Given the description of an element on the screen output the (x, y) to click on. 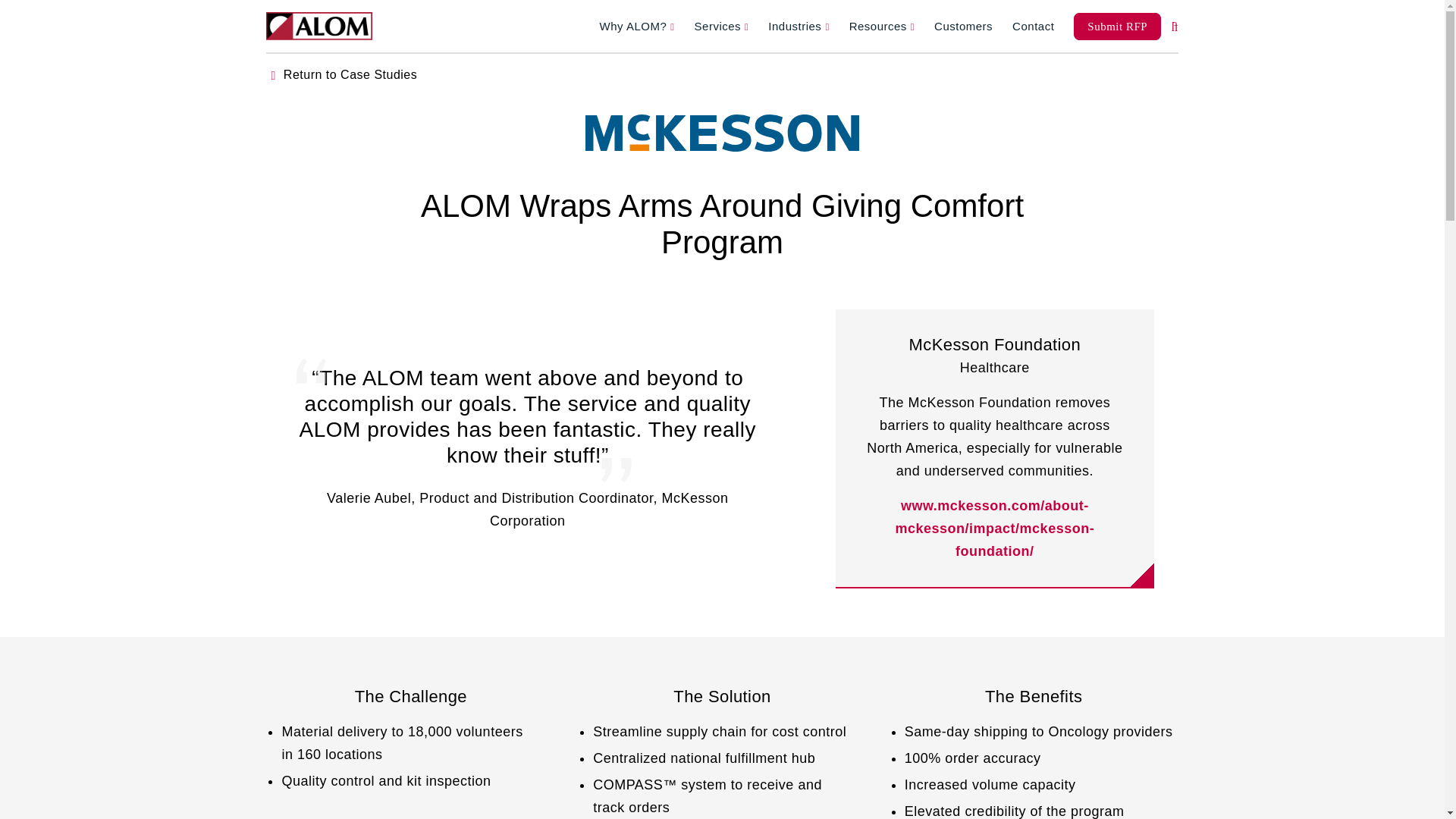
Why ALOM? (637, 29)
Services (721, 29)
Industries (798, 29)
Services (721, 29)
Why ALOM? (637, 29)
Resources (881, 29)
Customers (963, 29)
Submit RFP (1117, 26)
